Given the description of an element on the screen output the (x, y) to click on. 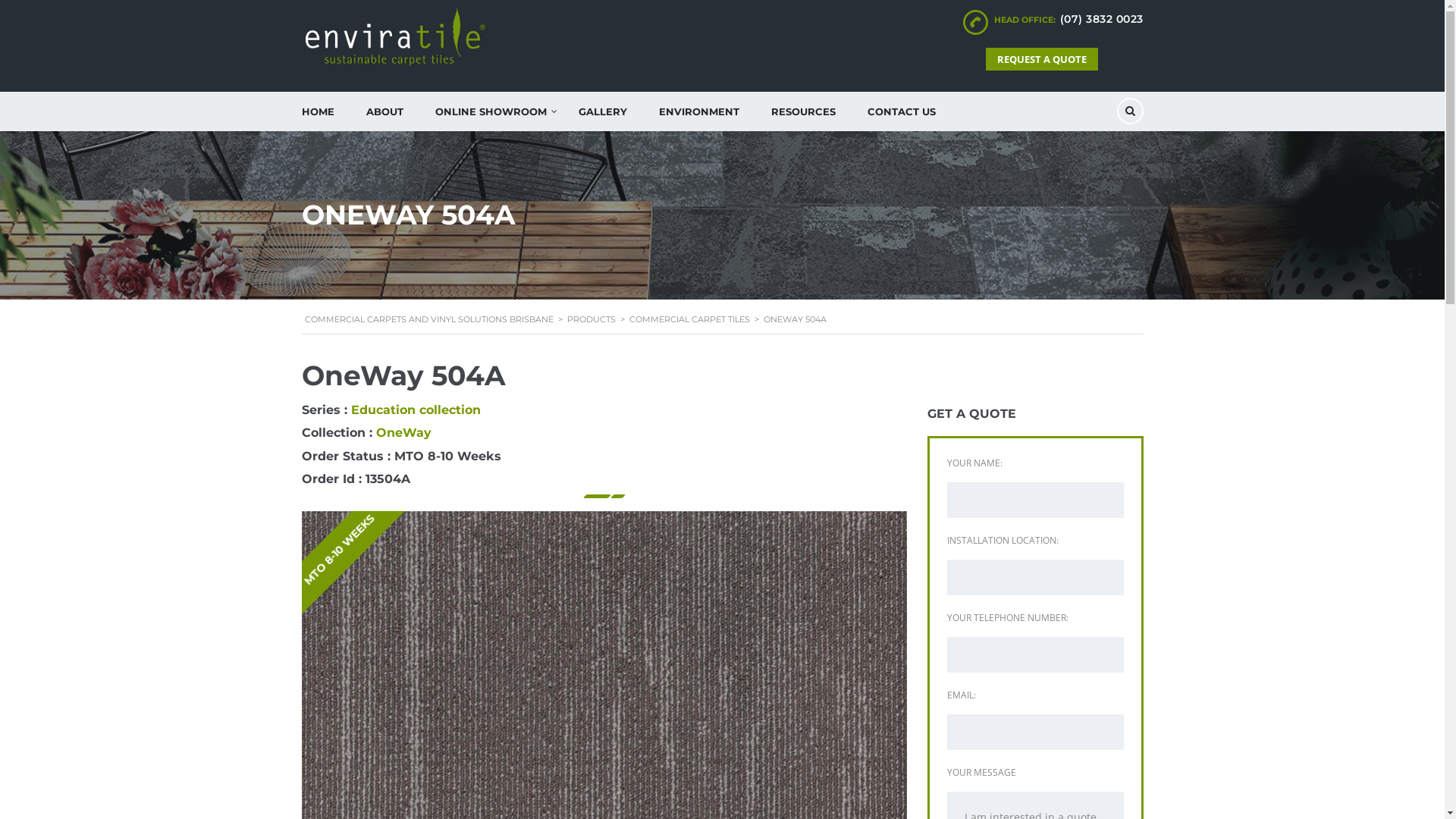
CONTACT US Element type: text (900, 111)
GALLERY Element type: text (602, 111)
RESOURCES Element type: text (803, 111)
Education collection Element type: text (415, 409)
ENVIRONMENT Element type: text (699, 111)
OneWay Element type: text (403, 432)
COMMERCIAL CARPET TILES Element type: text (689, 318)
ONLINE SHOWROOM Element type: text (489, 111)
HOME Element type: text (317, 111)
Home Element type: hover (399, 35)
(07) 3832 0023 Element type: text (1101, 18)
PRODUCTS Element type: text (591, 318)
COMMERCIAL CARPETS AND VINYL SOLUTIONS BRISBANE Element type: text (428, 318)
REQUEST A QUOTE Element type: text (1041, 58)
ABOUT Element type: text (384, 111)
